Given the description of an element on the screen output the (x, y) to click on. 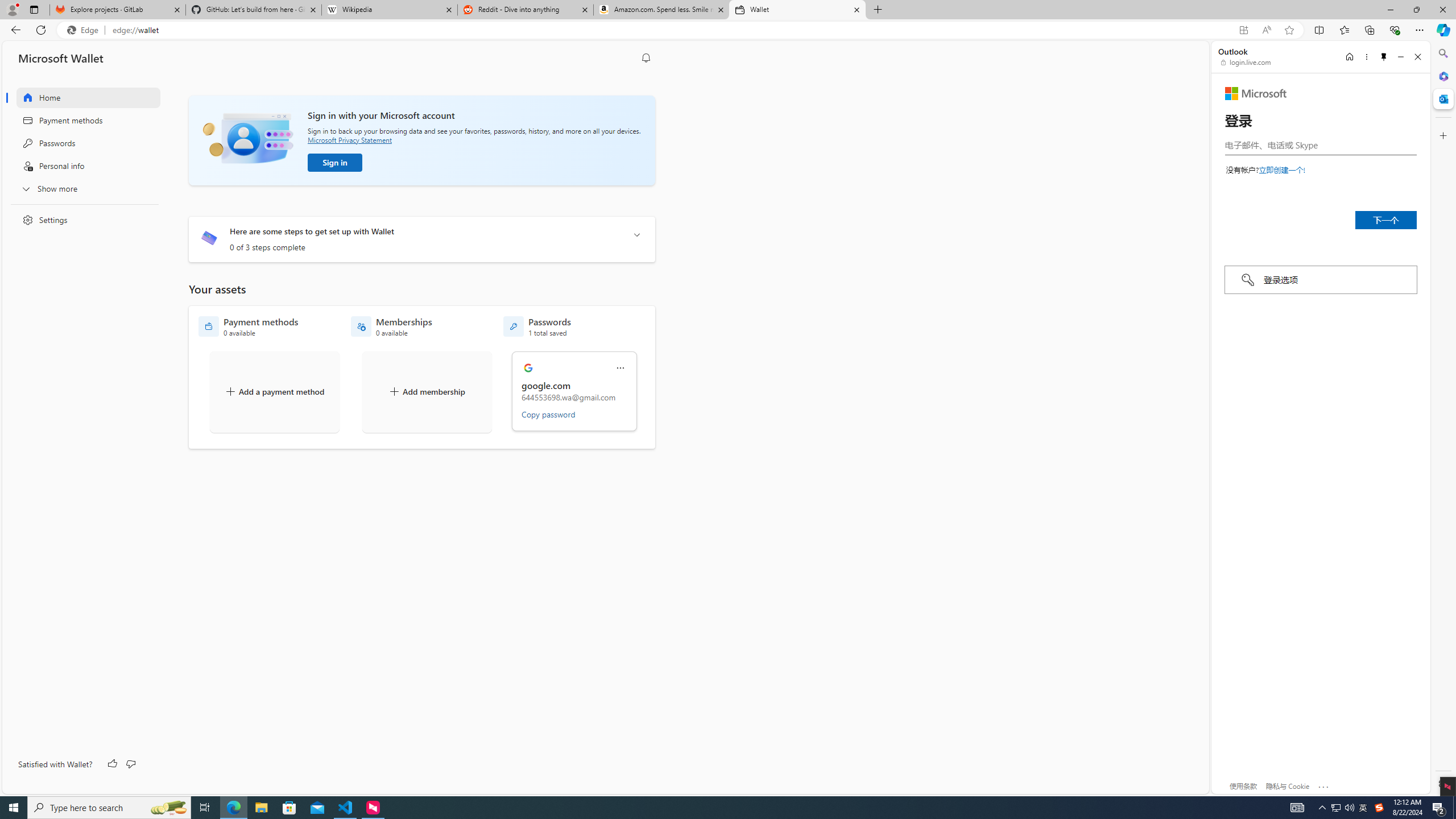
Wallet (797, 9)
More actions google.com 644553698.wa@gmail.com Copy password (574, 391)
